Given the description of an element on the screen output the (x, y) to click on. 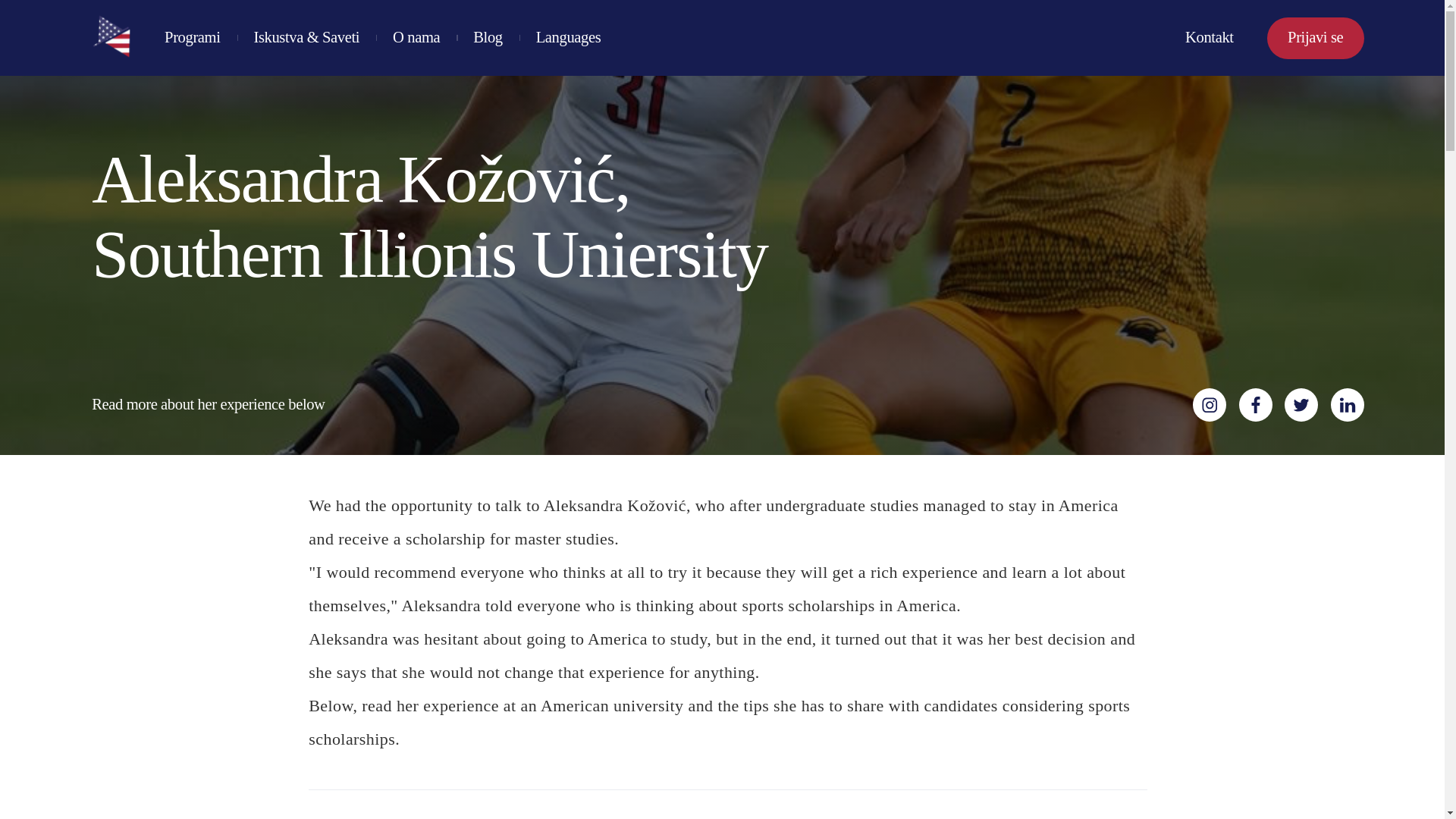
Read more about her experience below (207, 404)
Languages (568, 37)
Programi (191, 37)
O nama (416, 37)
Kontakt (1209, 37)
Blog (487, 37)
Prijavi se (1315, 37)
